Given the description of an element on the screen output the (x, y) to click on. 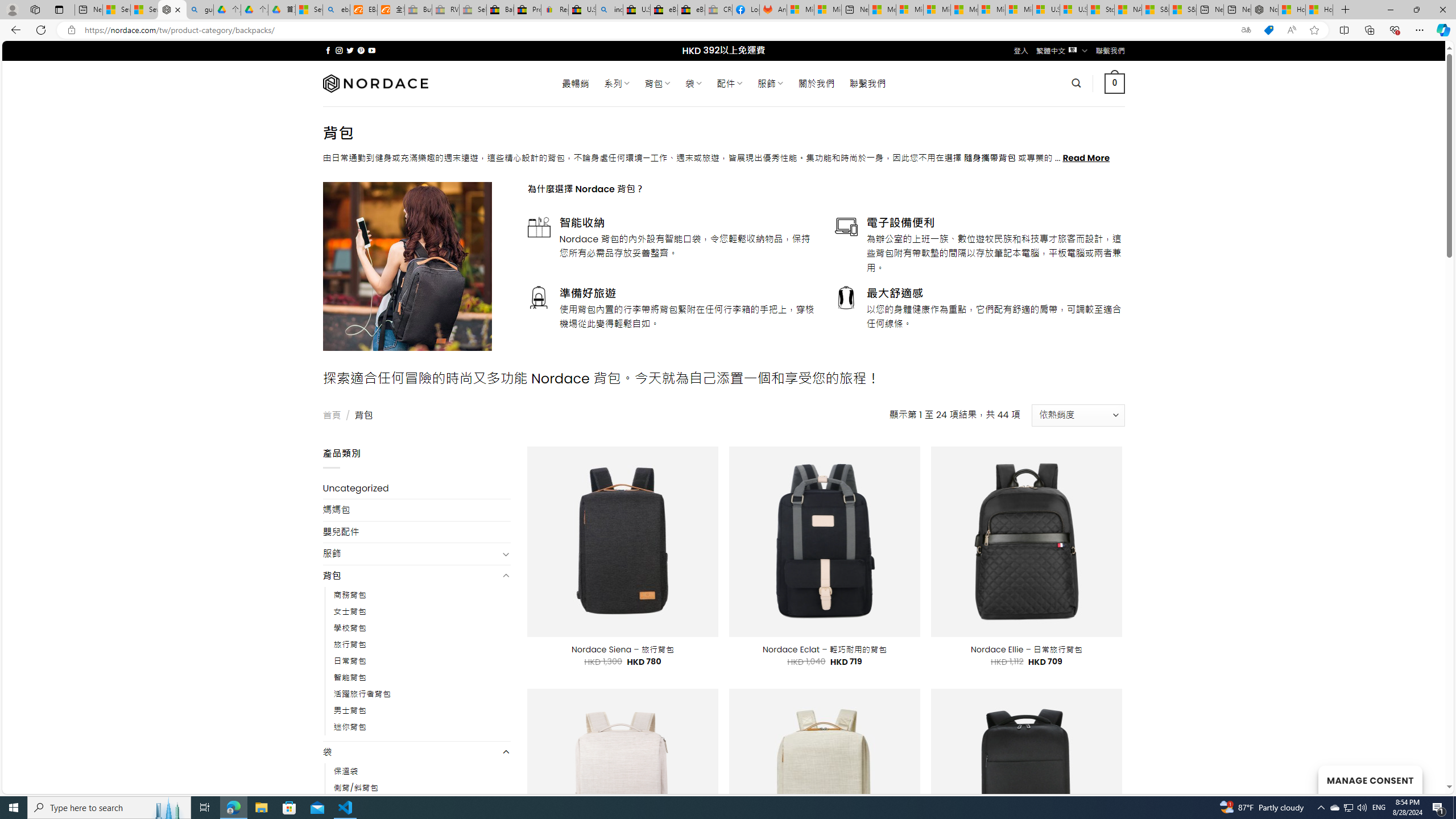
Sell worldwide with eBay - Sleeping (473, 9)
Read More (1085, 157)
